Given the description of an element on the screen output the (x, y) to click on. 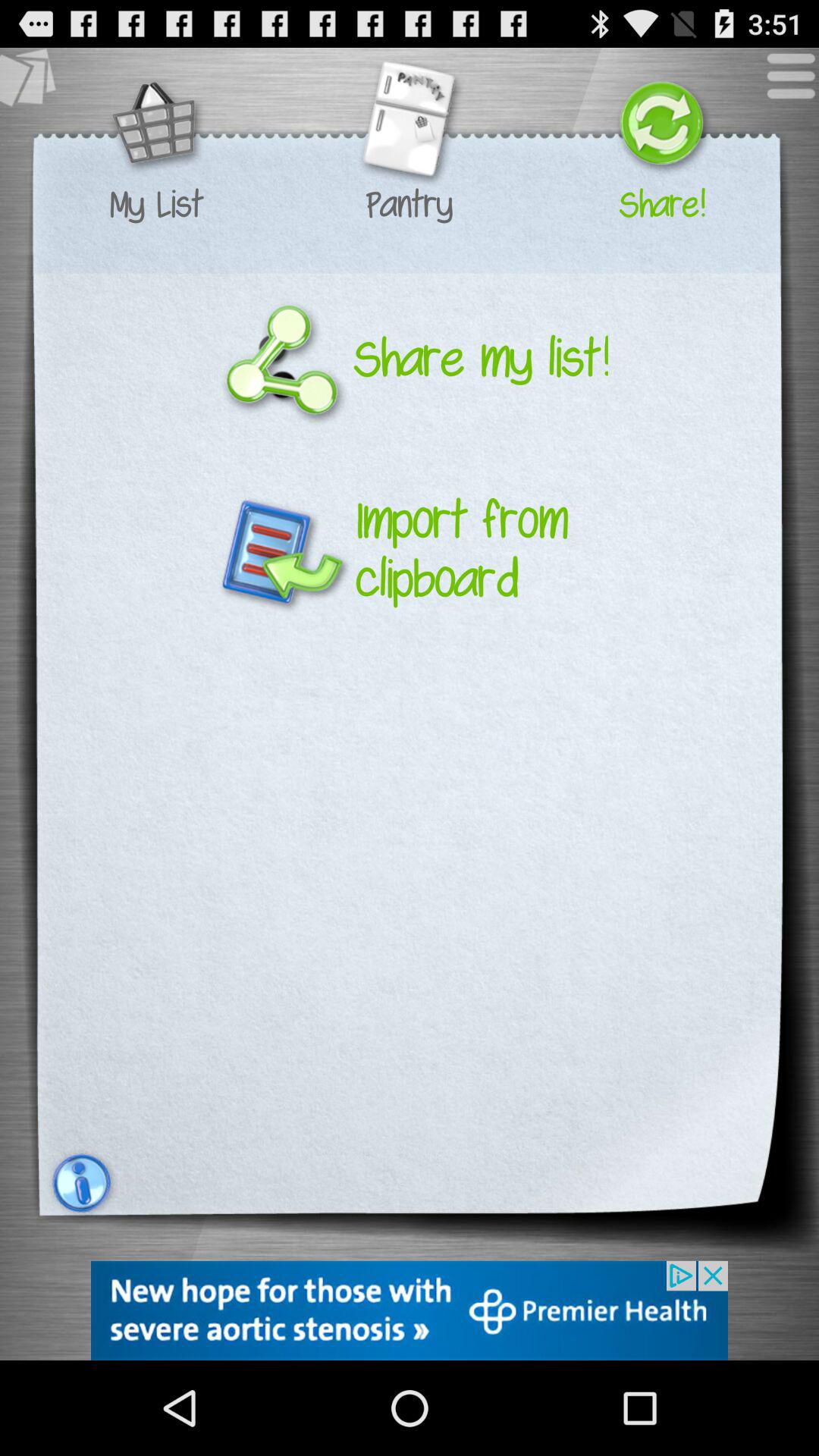
click on the info icon which is on the left side to the corner (79, 1182)
click my list (156, 205)
click menu icon (783, 83)
select the share icon (661, 125)
select the icon which is just above the pantry (408, 125)
go to the icon which is left to the share my list  (281, 359)
select the text which is below the second image on top (408, 205)
